Given the description of an element on the screen output the (x, y) to click on. 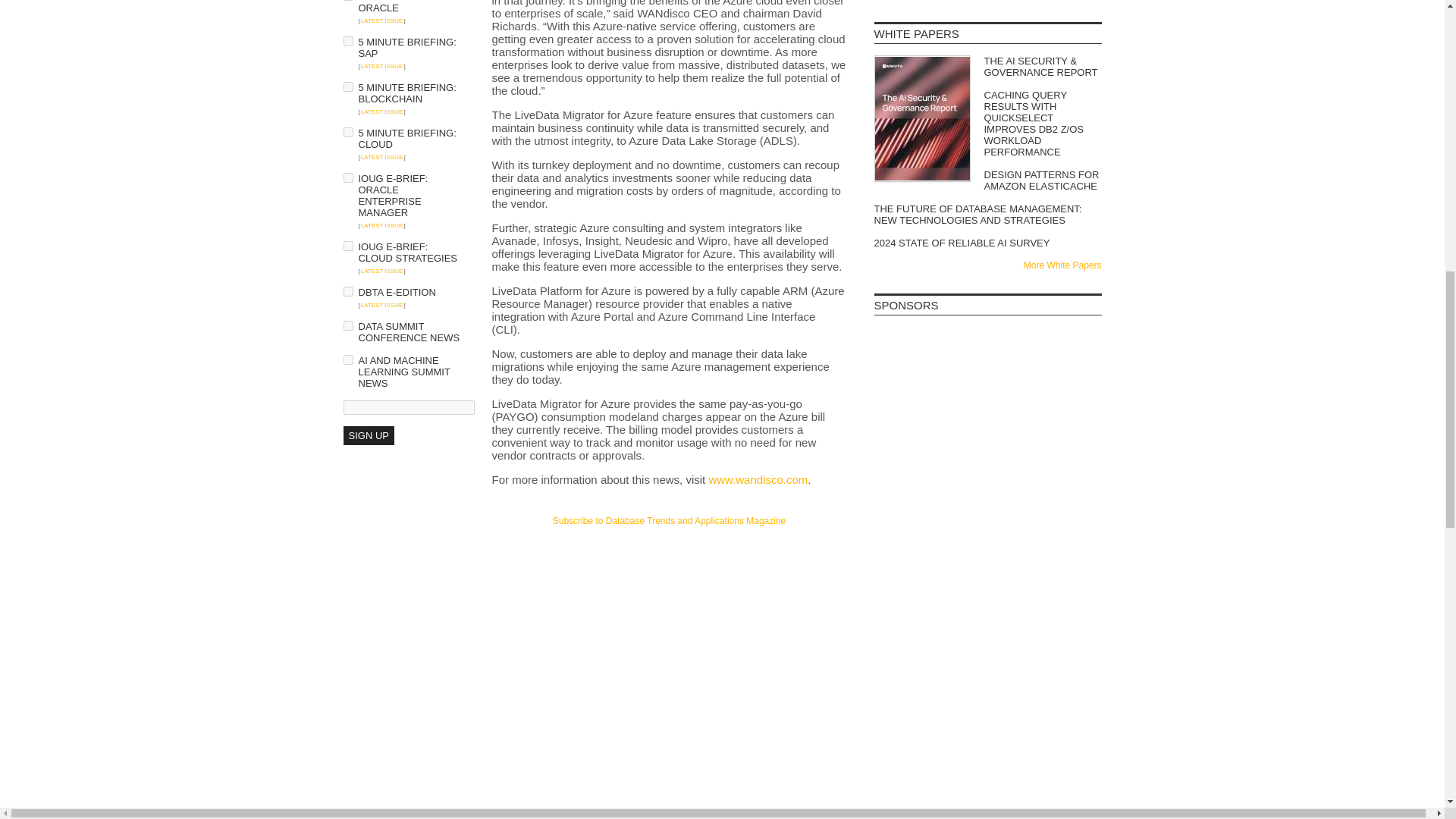
on (347, 291)
on (347, 132)
2024 State of Reliable AI Survey (986, 242)
Sign Up (367, 435)
on (347, 40)
Design patterns for Amazon ElastiCache (986, 179)
on (347, 86)
3rd party ad content (986, 455)
on (347, 325)
on (347, 245)
3rd party ad content (668, 556)
3rd party ad content (986, 364)
3rd party ad content (986, 546)
